Given the description of an element on the screen output the (x, y) to click on. 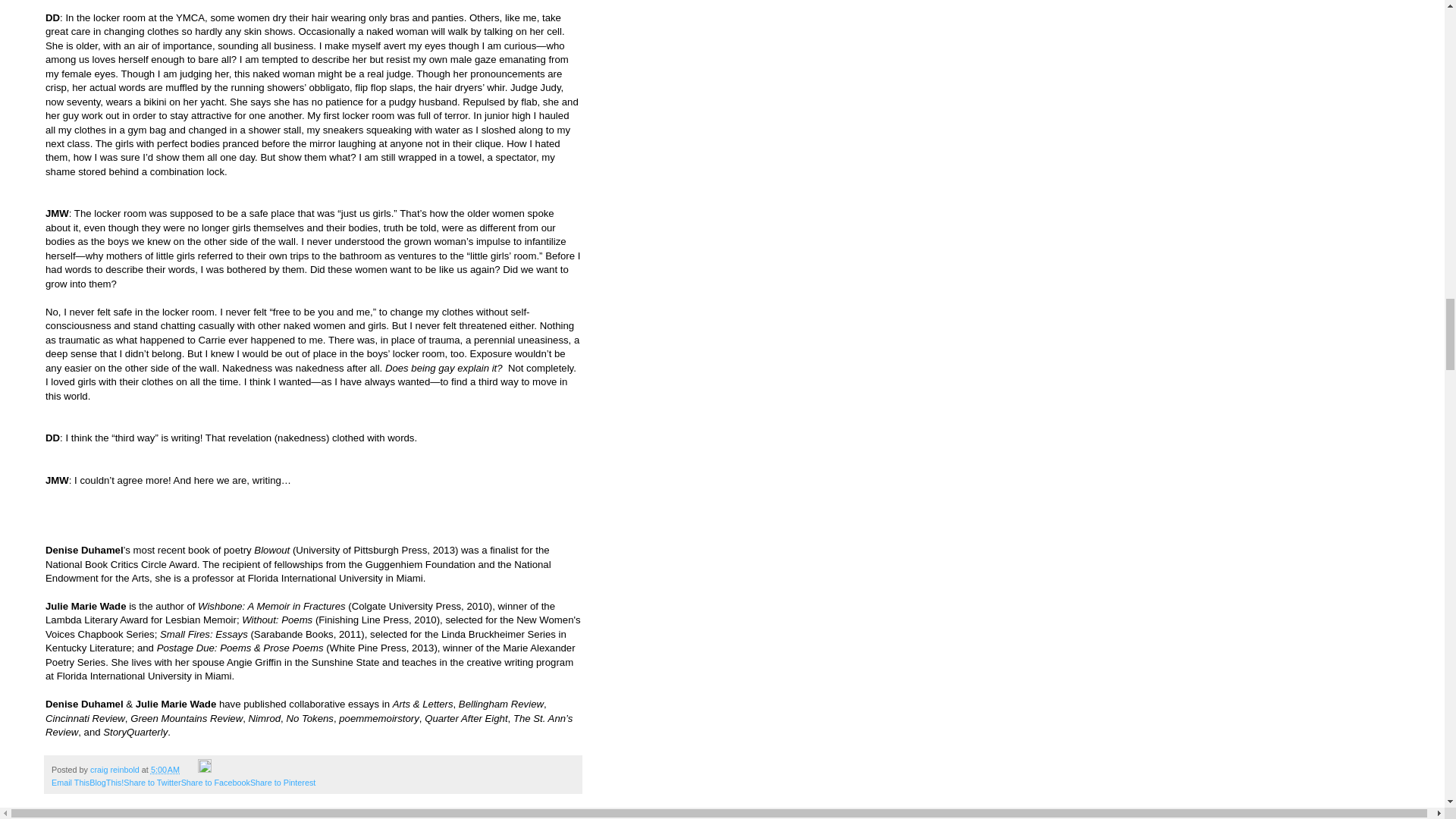
Email This (69, 782)
Email Post (190, 768)
Share to Twitter (151, 782)
permanent link (165, 768)
Email This (69, 782)
BlogThis! (105, 782)
Share to Pinterest (282, 782)
craig reinbold (115, 768)
Share to Twitter (151, 782)
Share to Pinterest (282, 782)
Share to Facebook (215, 782)
Share to Facebook (215, 782)
author profile (115, 768)
Edit Post (204, 768)
